Given the description of an element on the screen output the (x, y) to click on. 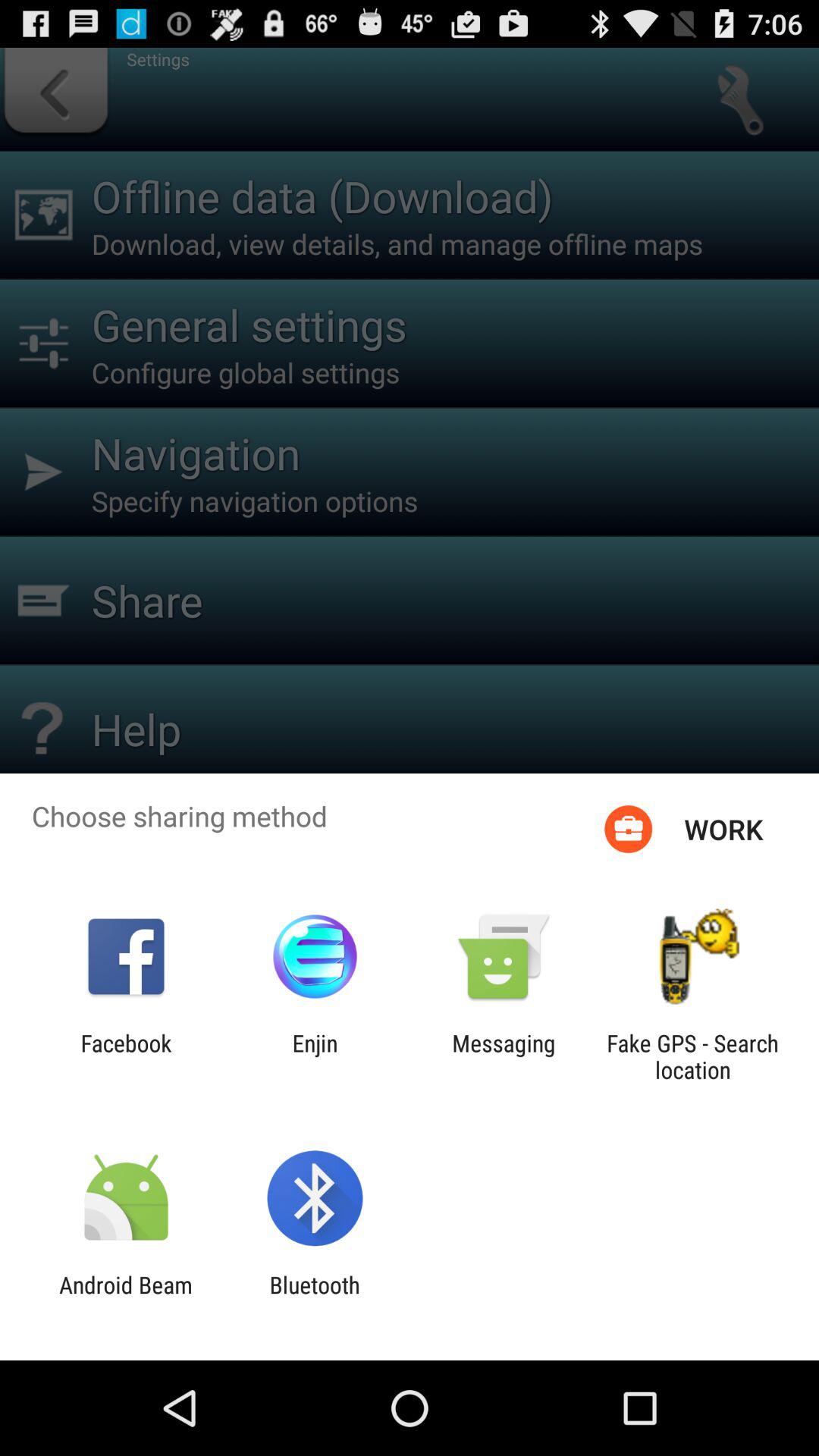
choose the bluetooth (314, 1298)
